Given the description of an element on the screen output the (x, y) to click on. 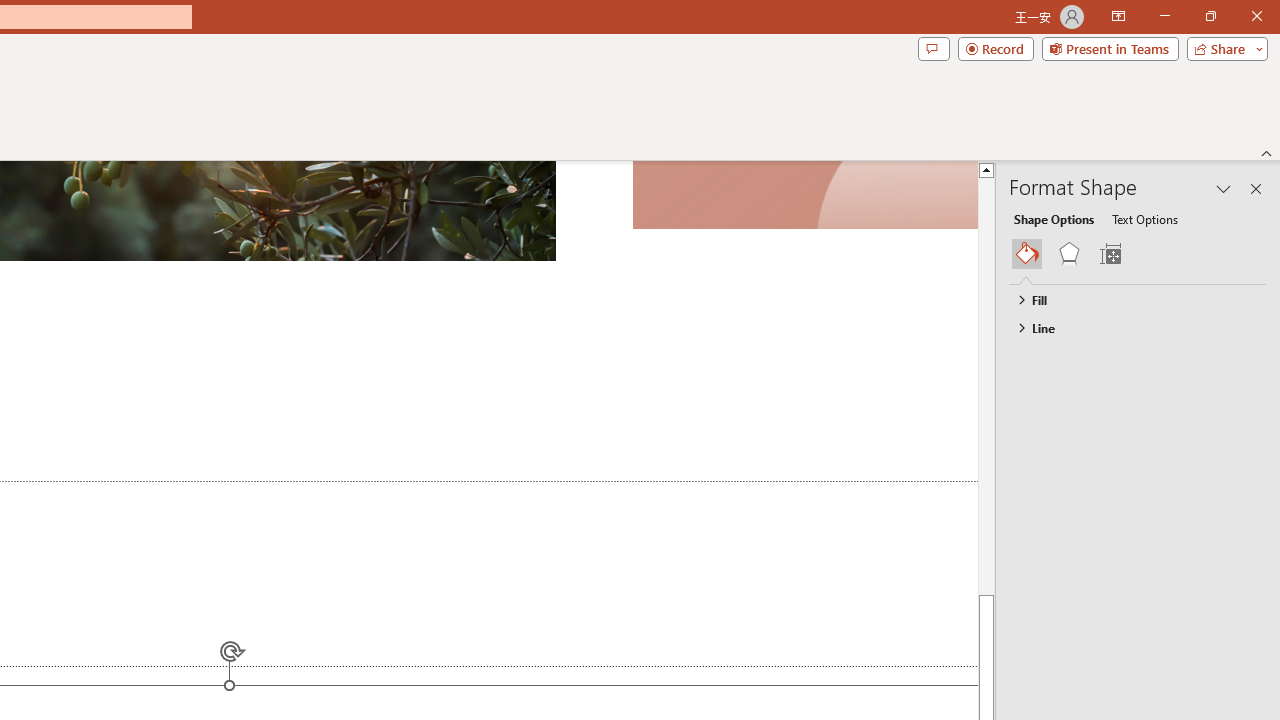
Fill & Line (1027, 254)
Effects (1069, 254)
Text Options (1144, 218)
Camera 7, No camera detected. (804, 195)
Shape Options (1054, 218)
